Given the description of an element on the screen output the (x, y) to click on. 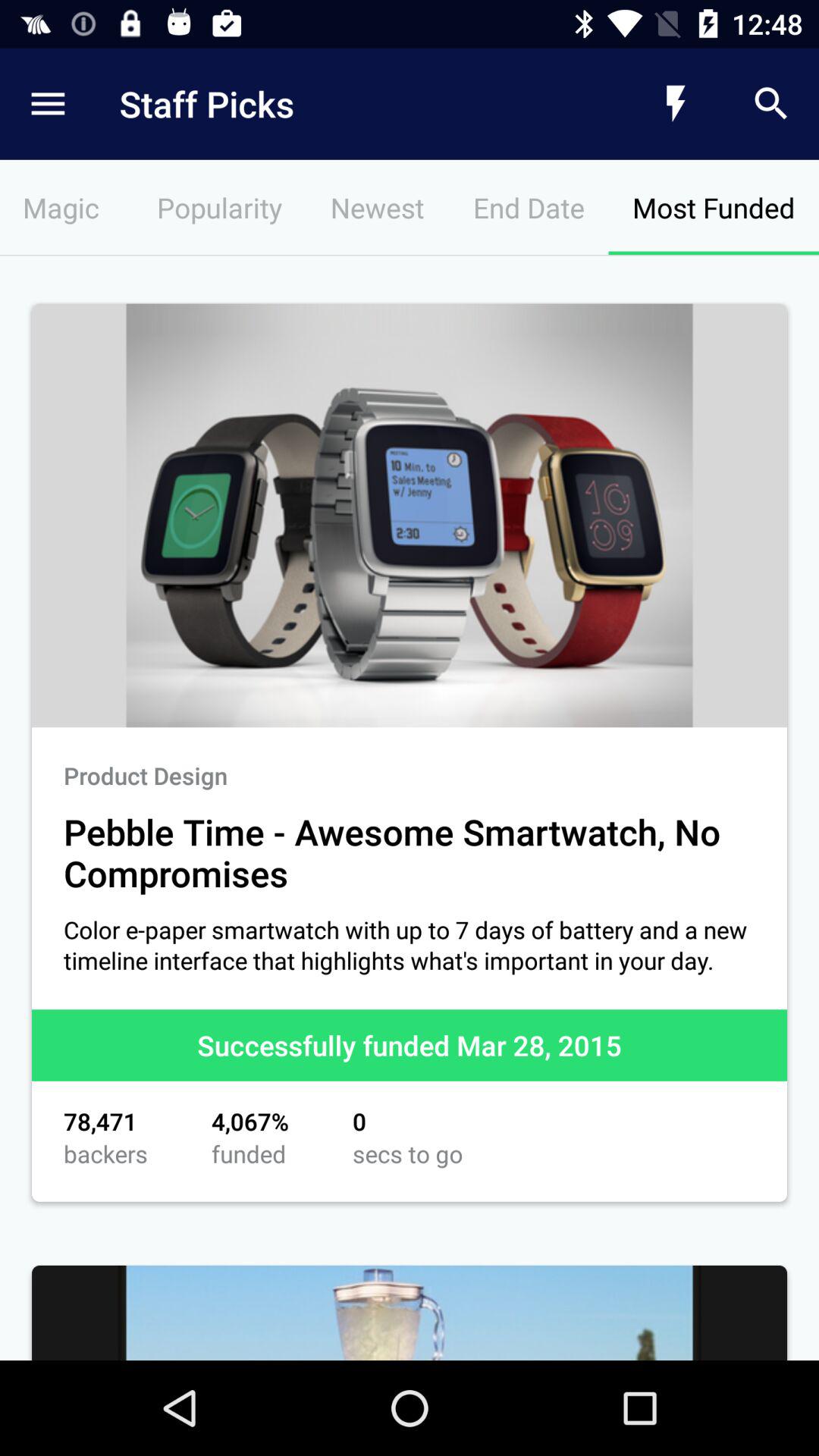
press item above most funded item (771, 103)
